Given the description of an element on the screen output the (x, y) to click on. 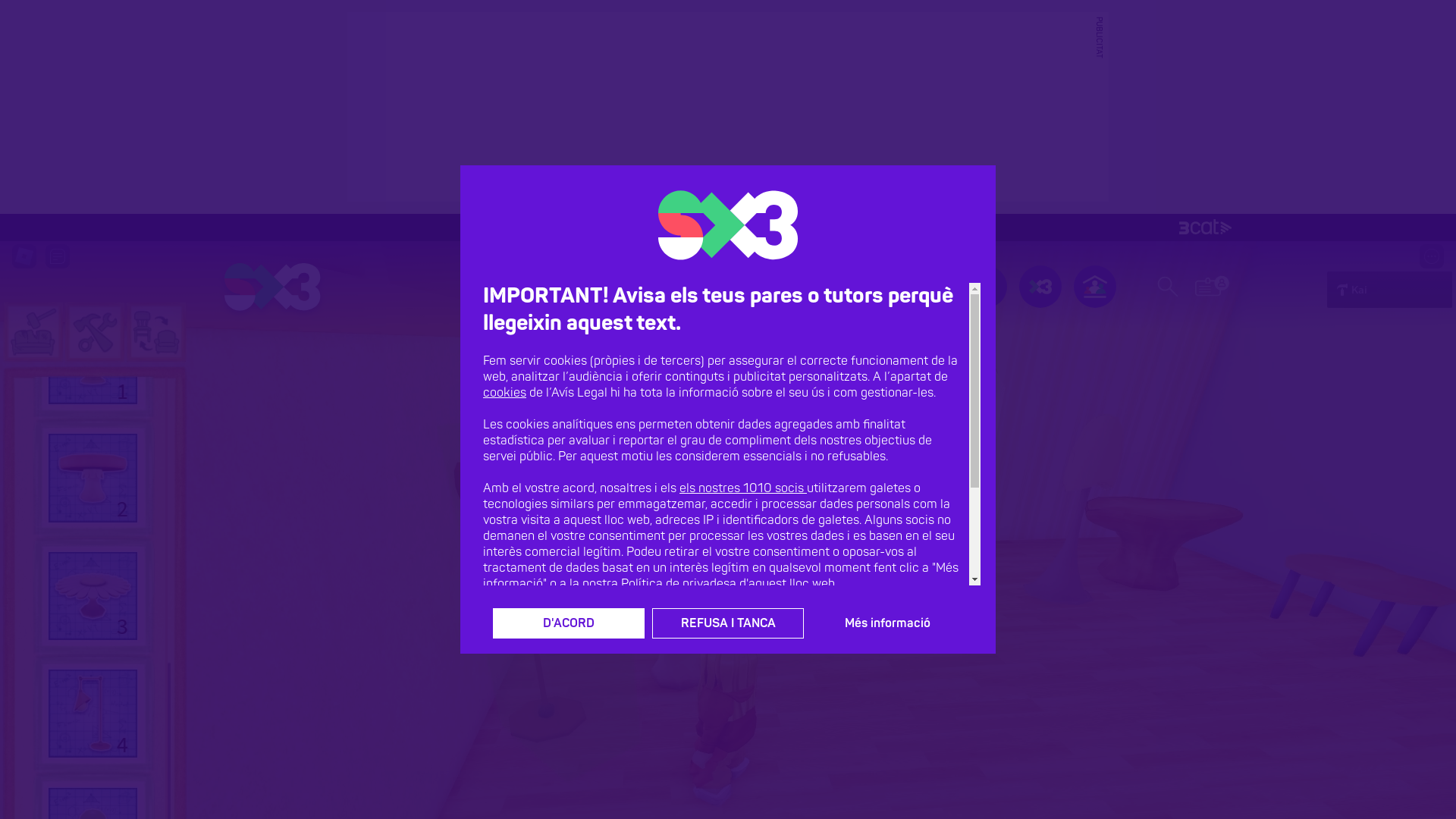
SX3 Element type: hover (272, 286)
S3 Element type: hover (985, 286)
REFUSA I TANCA Element type: text (727, 623)
cookies Element type: text (504, 392)
D'ACORD Element type: text (568, 623)
els nostres 1010 socis Element type: text (742, 487)
3Cat Element type: hover (727, 227)
X3 Element type: hover (1040, 286)
SX3 Element type: hover (931, 286)
